Given the description of an element on the screen output the (x, y) to click on. 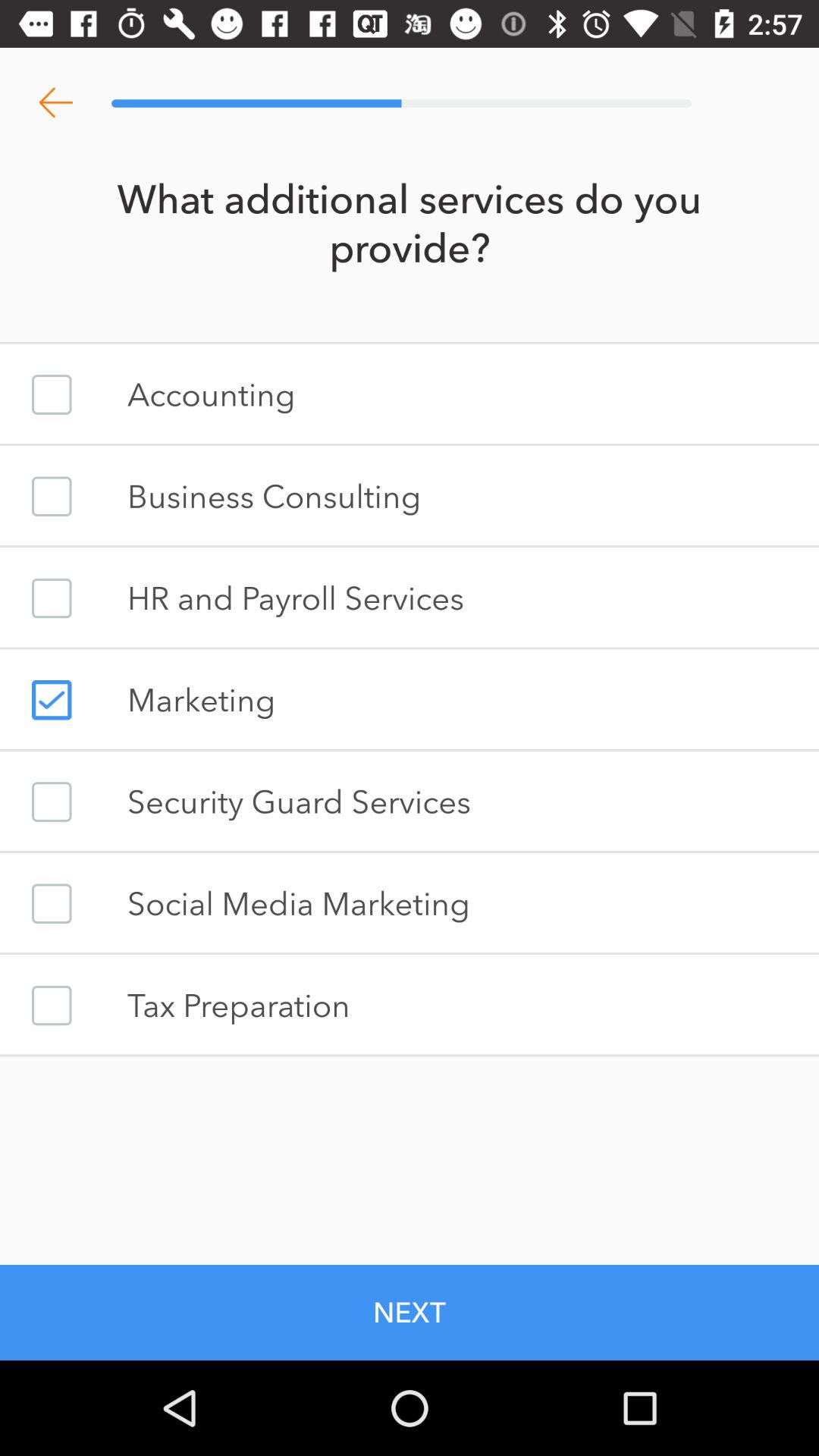
switch to select (51, 1005)
